Given the description of an element on the screen output the (x, y) to click on. 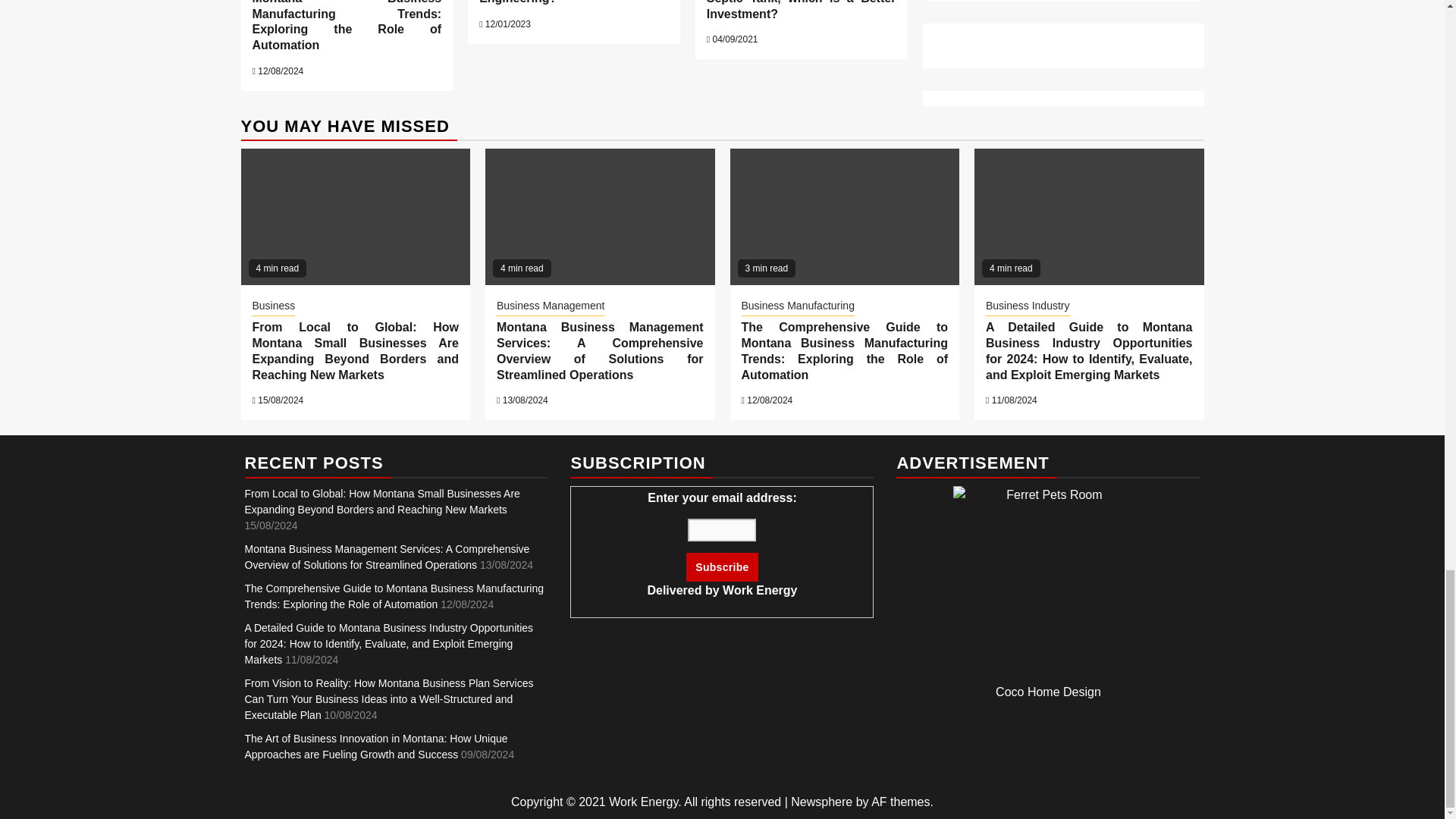
Subscribe (721, 566)
What is the Scope of Industrial Engineering? (573, 2)
